Given the description of an element on the screen output the (x, y) to click on. 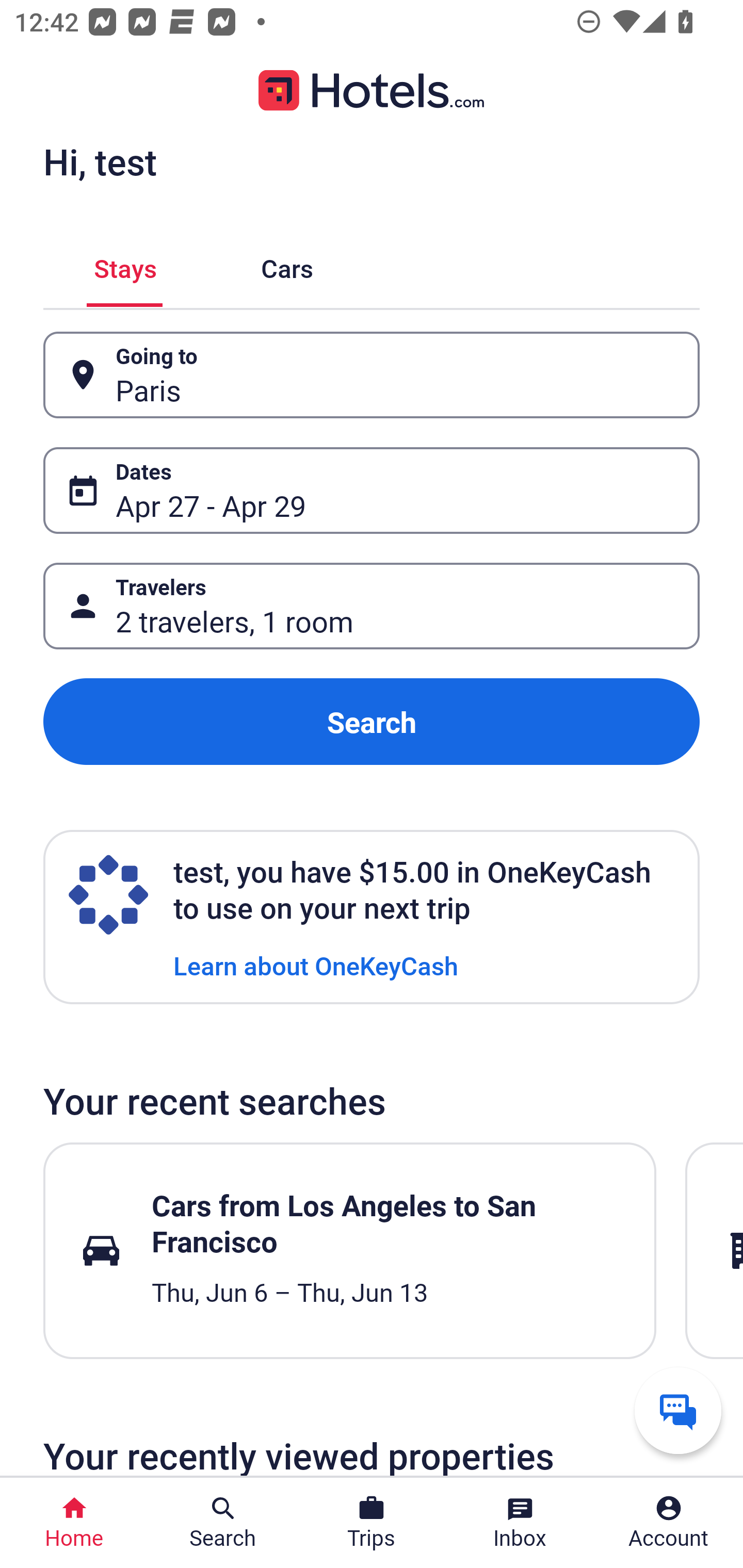
Hi, test (99, 161)
Cars (286, 265)
Going to Button Paris (371, 375)
Dates Button Apr 27 - Apr 29 (371, 489)
Travelers Button 2 travelers, 1 room (371, 605)
Search (371, 721)
Learn about OneKeyCash Learn about OneKeyCash Link (315, 964)
Get help from a virtual agent (677, 1410)
Search Search Button (222, 1522)
Trips Trips Button (371, 1522)
Inbox Inbox Button (519, 1522)
Account Profile. Button (668, 1522)
